Given the description of an element on the screen output the (x, y) to click on. 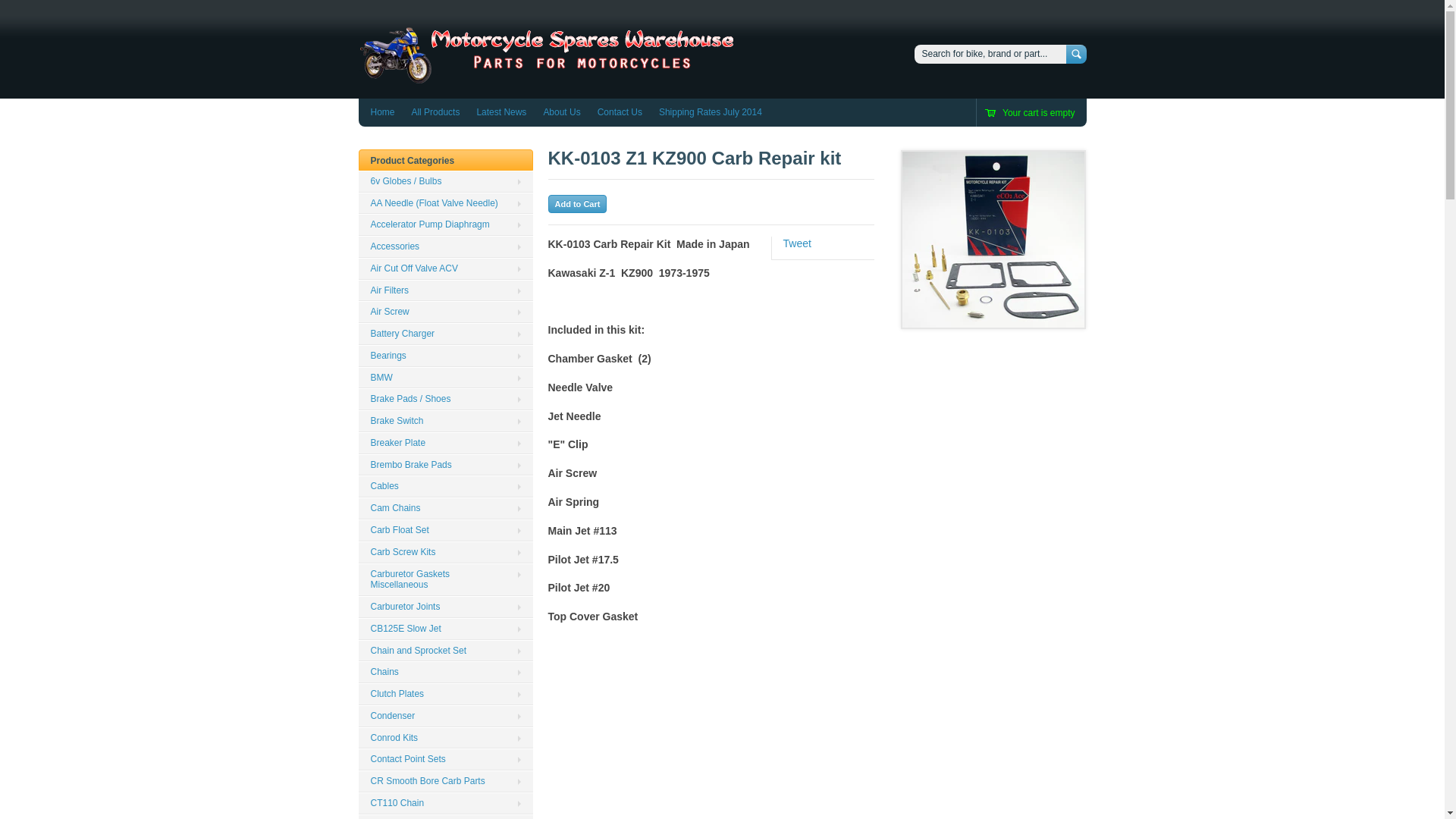
Tweet Element type: text (796, 243)
Accelerator Pump Diaphragm Element type: text (444, 224)
Brake Pads / Shoes Element type: text (444, 399)
Chains Element type: text (444, 672)
AA Needle (Float Valve Needle) Element type: text (444, 203)
Accessories Element type: text (444, 246)
CB125E Slow Jet Element type: text (444, 629)
Your cart is empty Element type: text (1031, 113)
Home Element type: hover (547, 75)
Carb Float Set Element type: text (444, 530)
Contact Point Sets Element type: text (444, 759)
Conrod Kits Element type: text (444, 738)
Cables Element type: text (444, 486)
Brembo Brake Pads Element type: text (444, 465)
Condenser Element type: text (444, 716)
Cam Chains Element type: text (444, 508)
Carb Screw Kits Element type: text (444, 552)
Product Categories Element type: text (412, 160)
Add to Cart Element type: text (576, 203)
Clutch Plates Element type: text (444, 694)
Search Element type: text (1076, 53)
Breaker Plate Element type: text (444, 443)
BMW Element type: text (444, 378)
Contact Us Element type: text (619, 112)
Home Element type: text (381, 112)
Air Screw Element type: text (444, 312)
Latest News Element type: text (500, 112)
Shipping Rates July 2014 Element type: text (710, 112)
Air Filters Element type: text (444, 290)
Chain and Sprocket Set Element type: text (444, 651)
All Products Element type: text (435, 112)
About Us Element type: text (561, 112)
Battery Charger Element type: text (444, 334)
CT110 Chain Element type: text (444, 803)
Carburetor Gaskets Miscellaneous Element type: text (444, 579)
Carburetor Joints Element type: text (444, 607)
CR Smooth Bore Carb Parts Element type: text (444, 781)
Bearings Element type: text (444, 356)
6v Globes / Bulbs Element type: text (444, 181)
Brake Switch Element type: text (444, 421)
Air Cut Off Valve ACV Element type: text (444, 268)
